Given the description of an element on the screen output the (x, y) to click on. 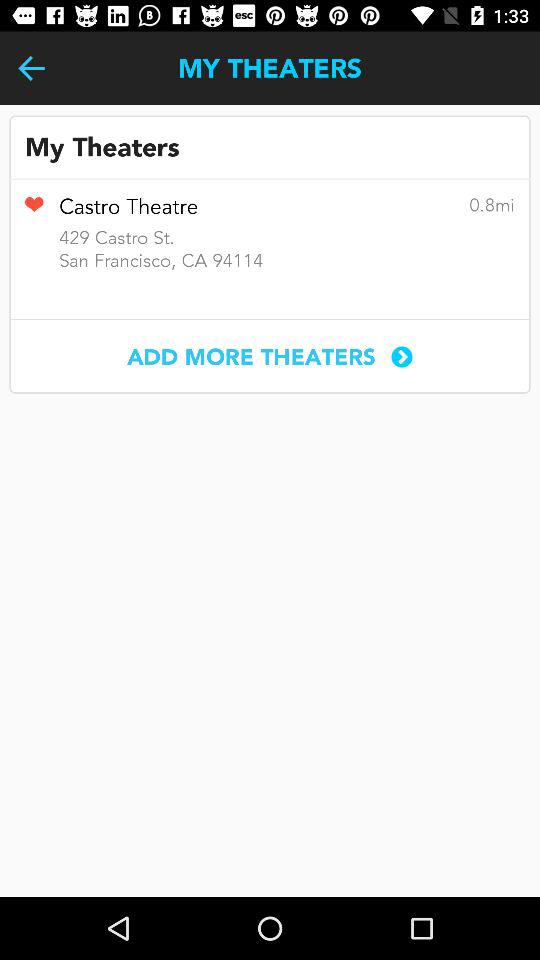
turn off icon above the my theaters item (31, 67)
